Given the description of an element on the screen output the (x, y) to click on. 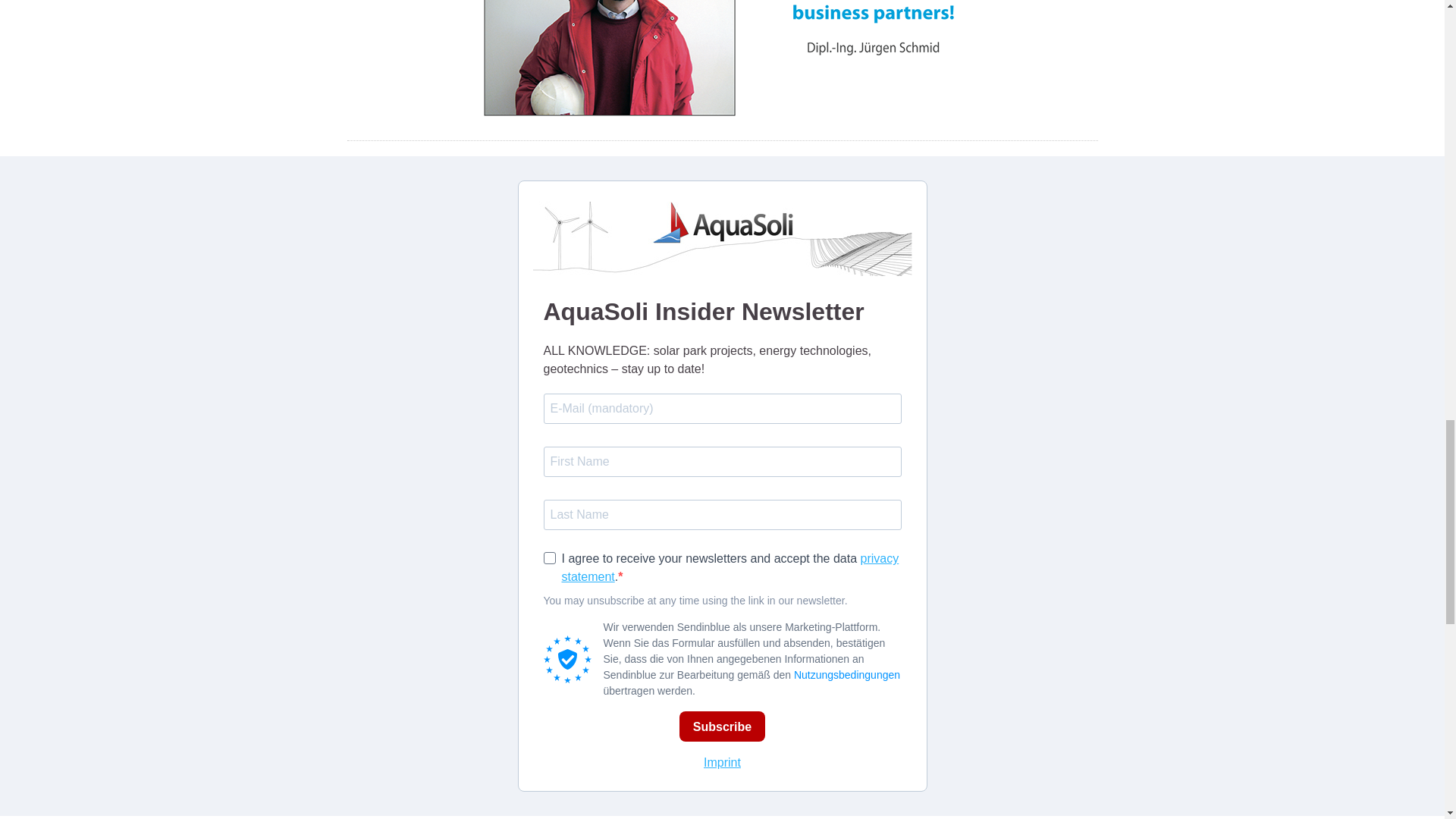
Imprint (722, 762)
Subscribe (722, 726)
Nutzungsbedingungen (846, 674)
privacy statement (729, 567)
